Given the description of an element on the screen output the (x, y) to click on. 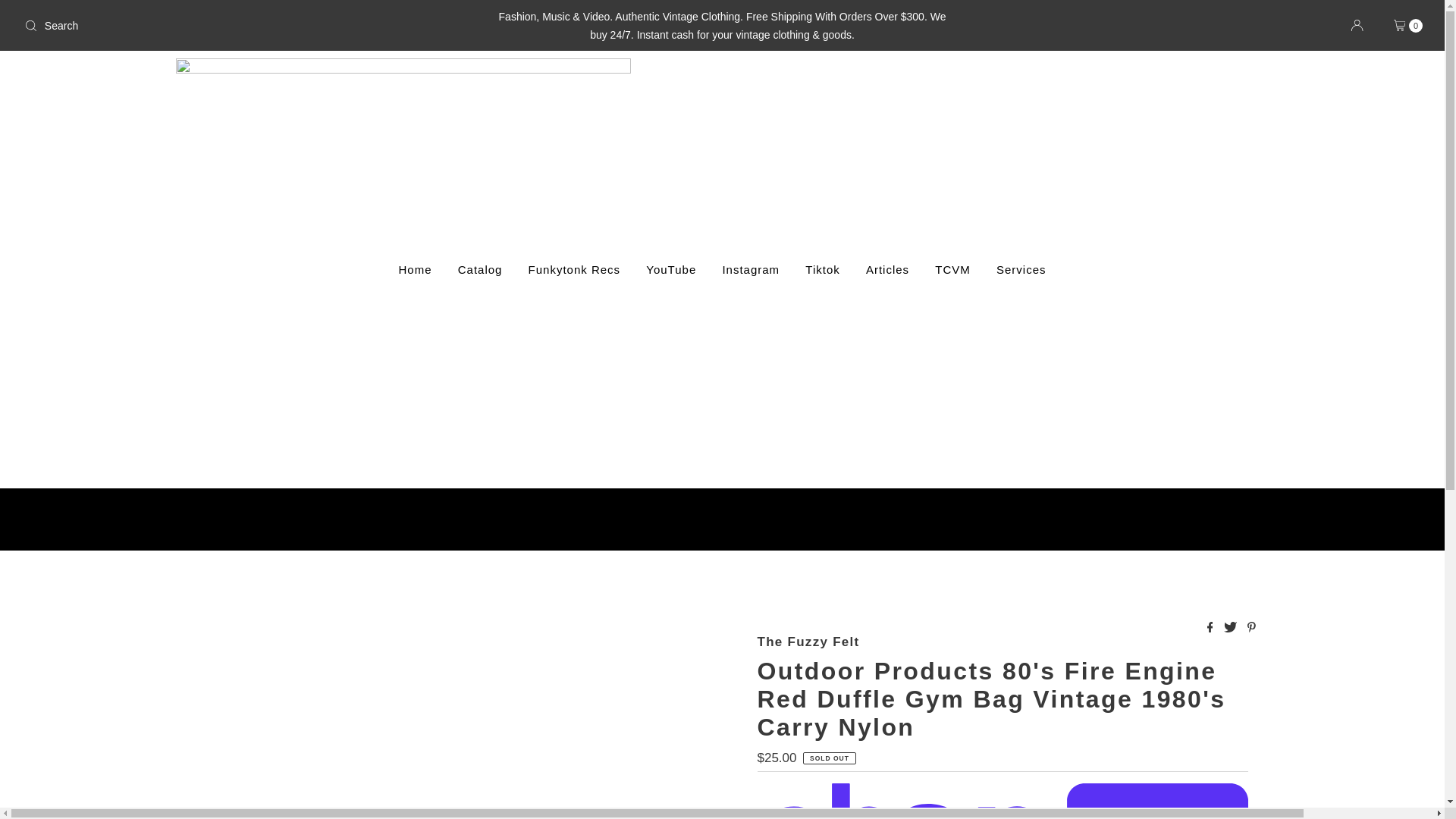
Search our store (248, 25)
